Given the description of an element on the screen output the (x, y) to click on. 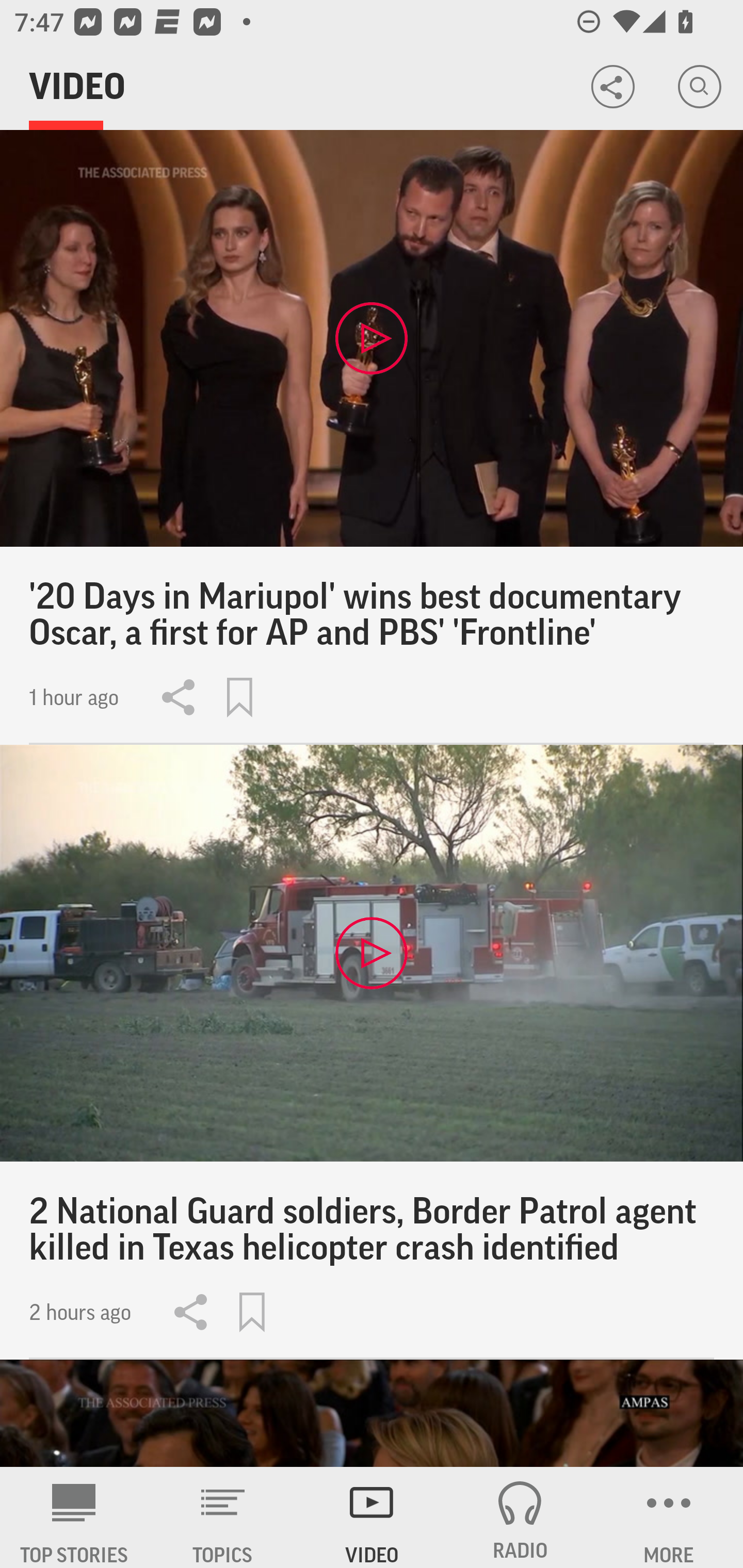
AP News TOP STORIES (74, 1517)
TOPICS (222, 1517)
VIDEO (371, 1517)
RADIO (519, 1517)
MORE (668, 1517)
